Given the description of an element on the screen output the (x, y) to click on. 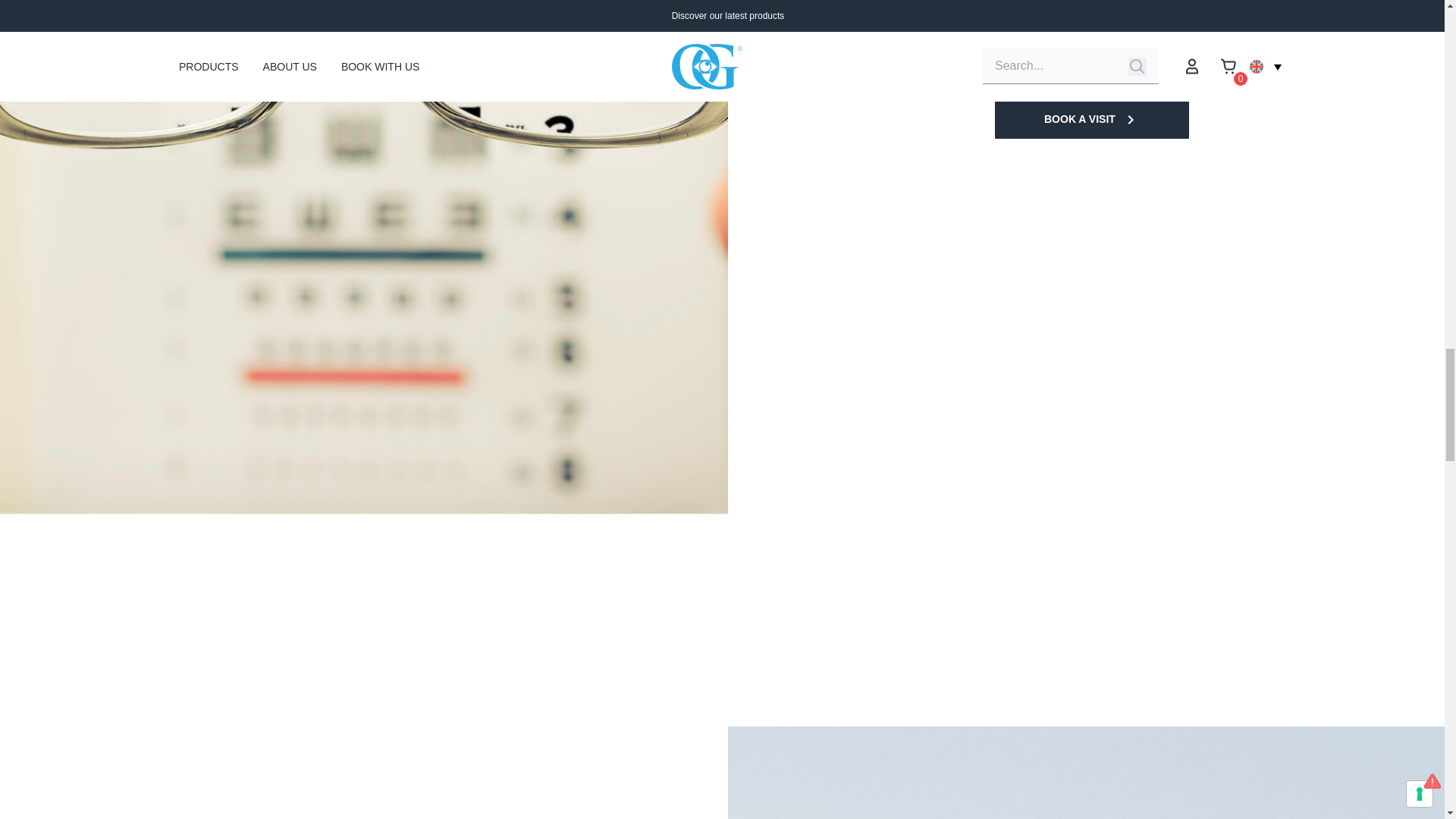
BOOK A VISIT (1091, 119)
